Given the description of an element on the screen output the (x, y) to click on. 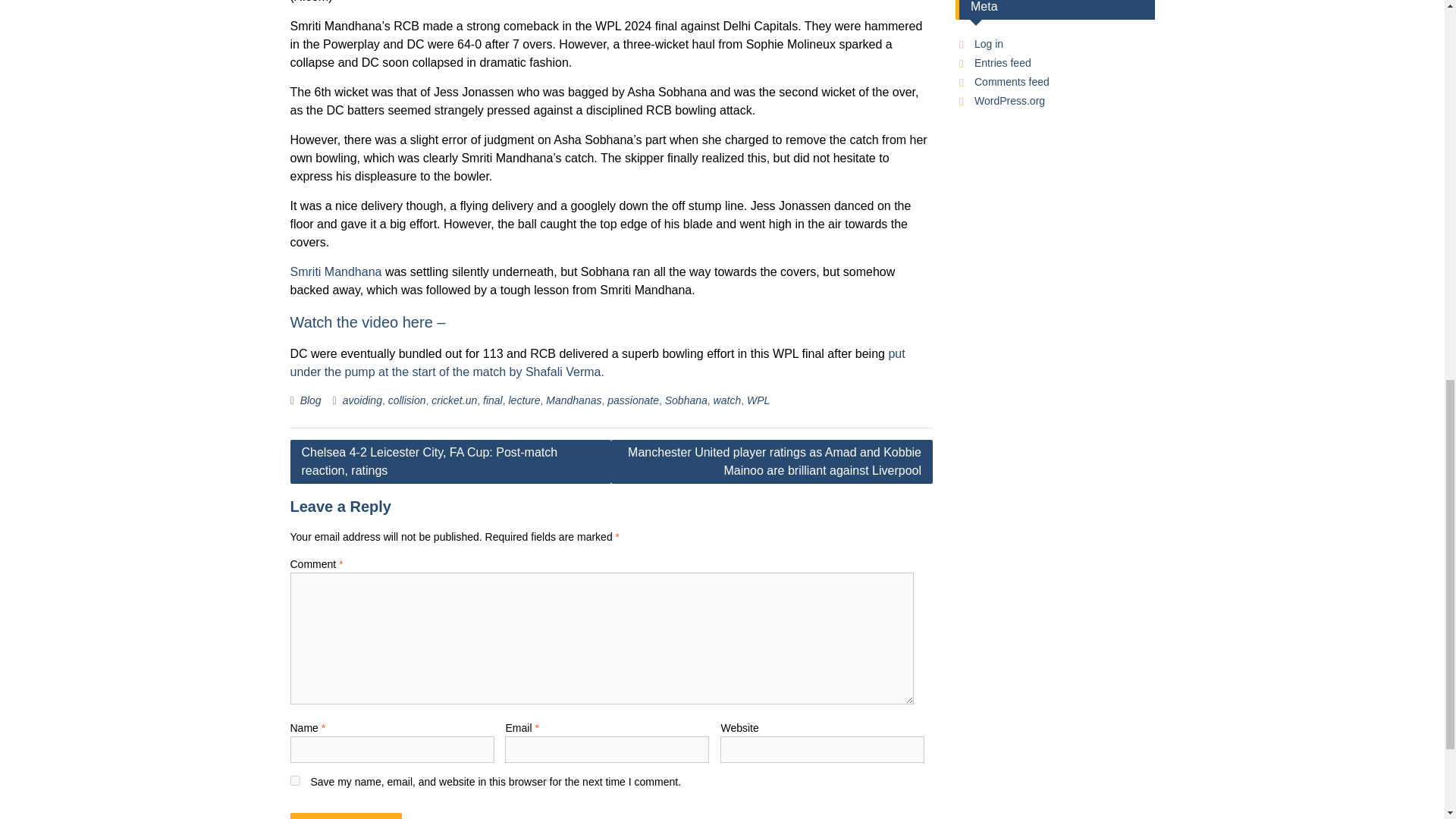
Post Comment (345, 816)
yes (294, 780)
